Given the description of an element on the screen output the (x, y) to click on. 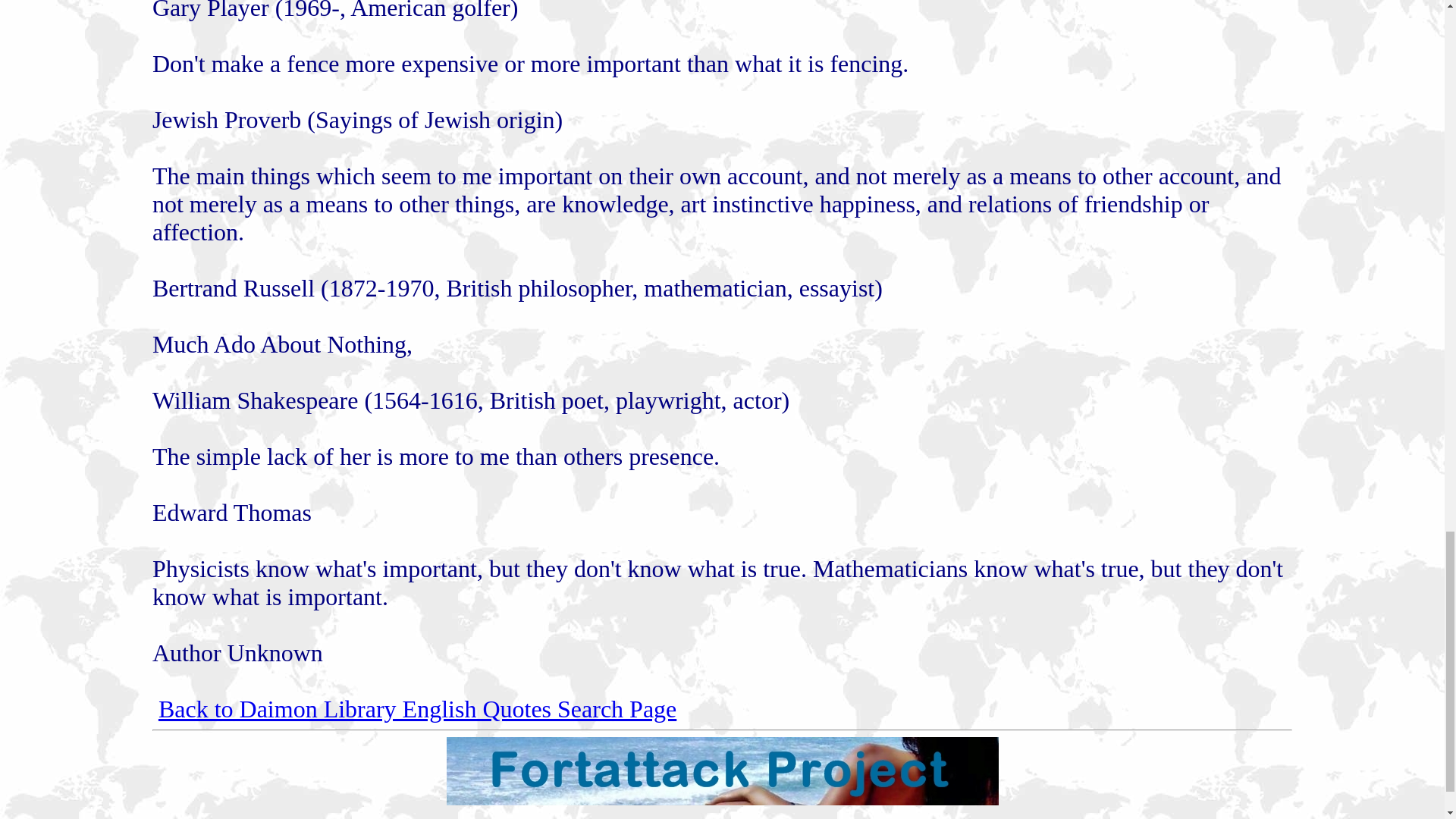
Fort attack blog project (721, 800)
Back to Daimon Library English Quotes Search Page (417, 708)
